Given the description of an element on the screen output the (x, y) to click on. 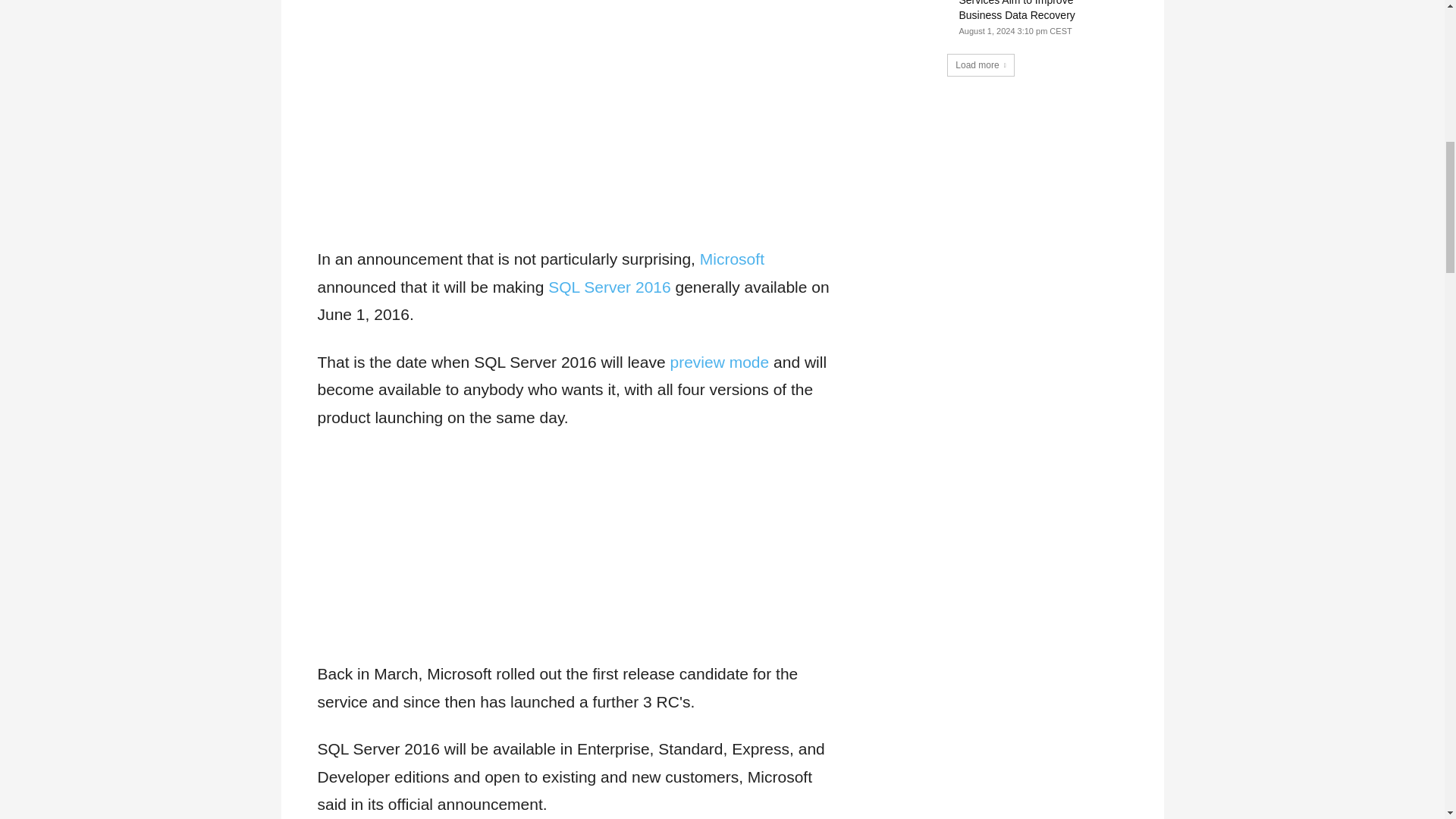
Posts tagged with SQL Server 2016 (608, 286)
Posts tagged with Microsoft (732, 258)
